Given the description of an element on the screen output the (x, y) to click on. 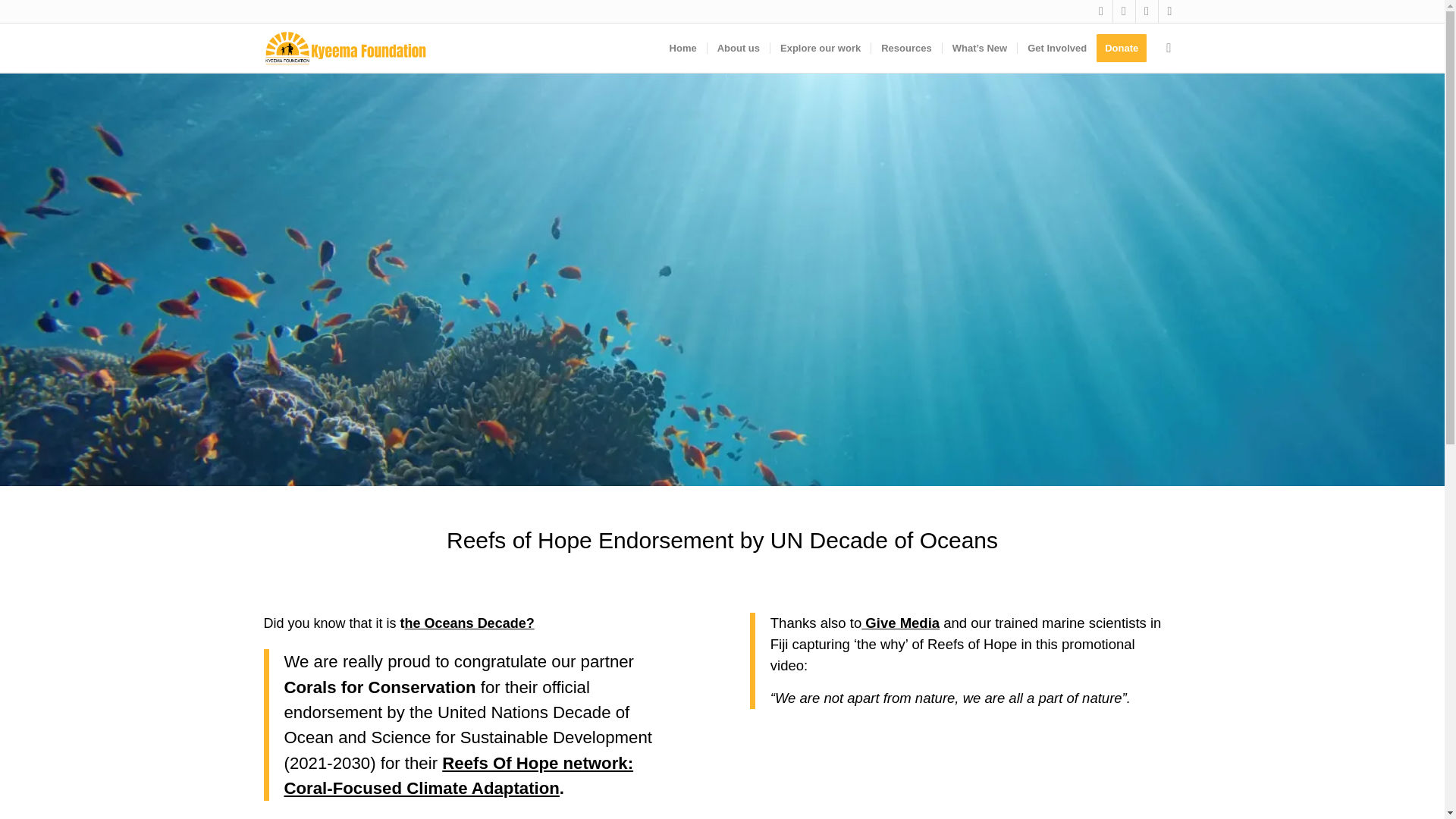
Instagram (1146, 11)
Facebook (1101, 11)
About us (738, 47)
Resources (905, 47)
Give Media (900, 622)
Kyeema Foundation logo 400w resize (345, 47)
Explore our work (820, 47)
he Oceans Decade? (469, 622)
LinkedIn (1124, 11)
Youtube (1169, 11)
Donate (1126, 47)
Reefs Of Hope network: Coral-Focused Climate Adaptation (458, 775)
Get Involved (1056, 47)
YouTube video player (961, 771)
Home (682, 47)
